Given the description of an element on the screen output the (x, y) to click on. 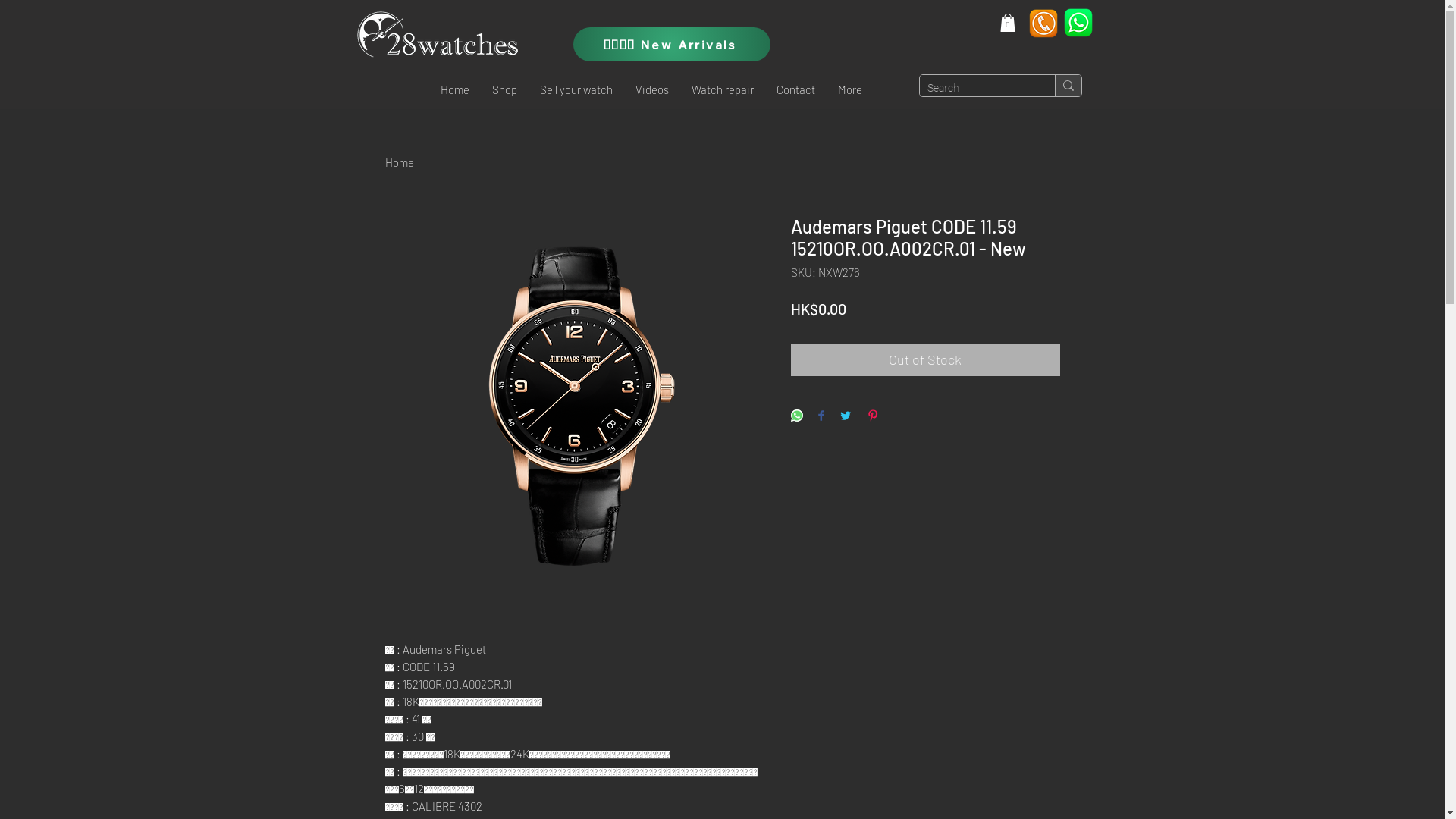
Home Element type: text (399, 162)
Out of Stock Element type: text (924, 359)
Home Element type: text (454, 89)
Contact Element type: text (794, 89)
Sell your watch Element type: text (575, 89)
Watch repair Element type: text (721, 89)
Shop Element type: text (504, 89)
0 Element type: text (1006, 22)
